Given the description of an element on the screen output the (x, y) to click on. 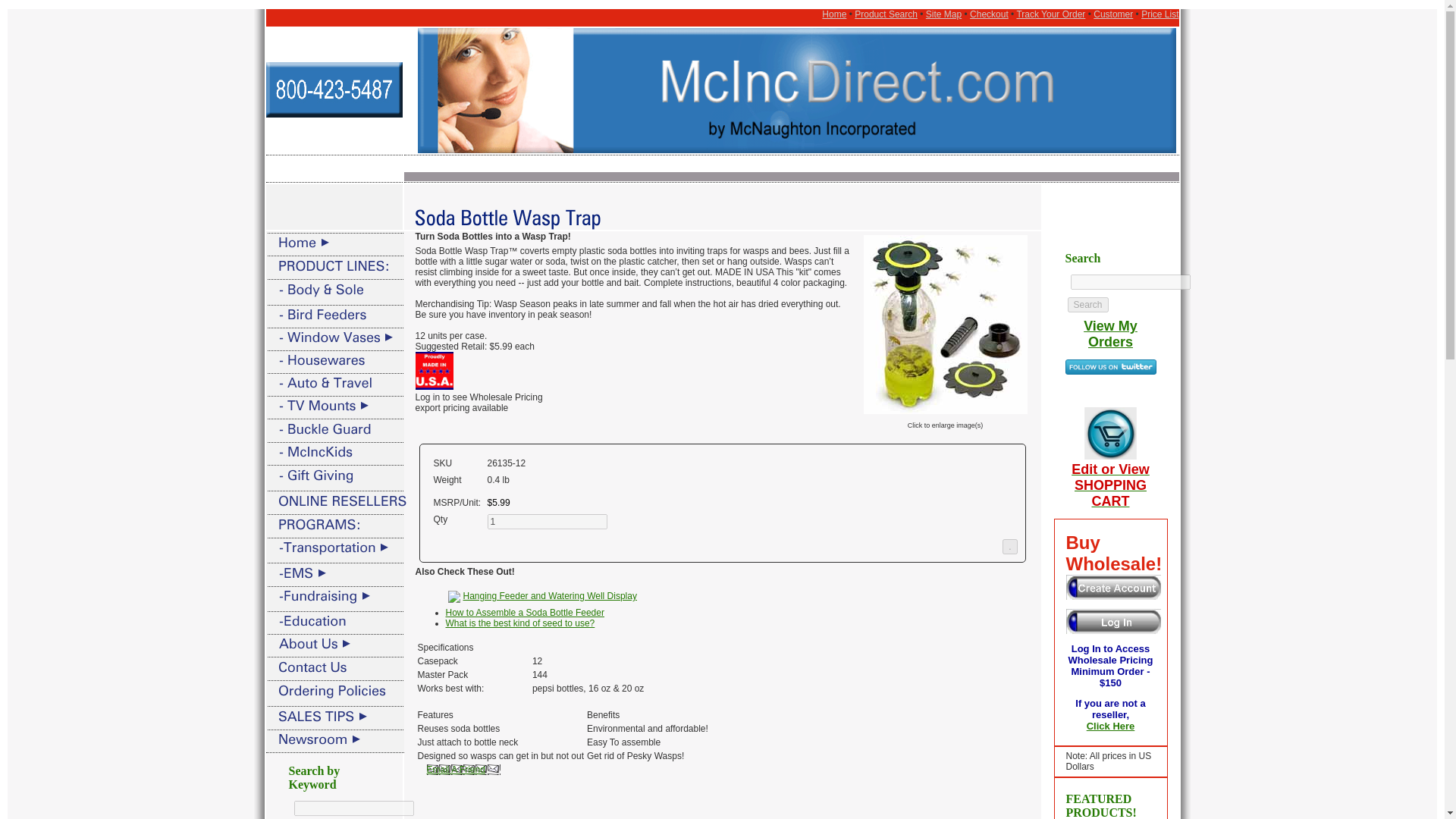
1 (546, 521)
Checkout (989, 14)
Soda Bottle Wasp Trap (944, 324)
Product Search (885, 14)
Site Map (943, 14)
Price List (1159, 14)
Track Your Order (1050, 14)
Soda Bottle Wasp Trap (944, 410)
Home (833, 14)
Customer (1112, 14)
